Given the description of an element on the screen output the (x, y) to click on. 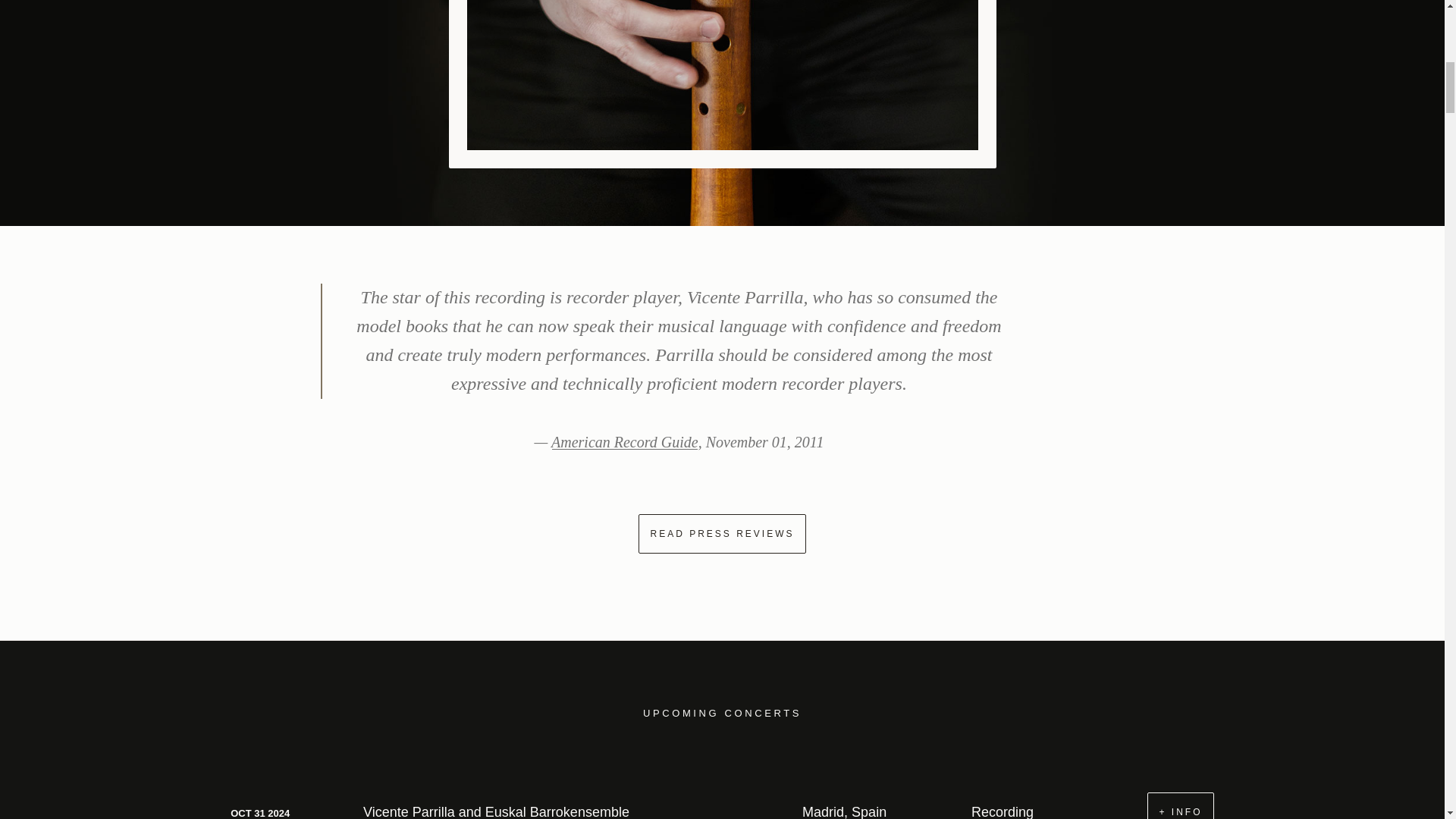
American Record Guide (624, 442)
oct 31 2024 (259, 811)
Recording (1002, 811)
Vicente Parrilla and Euskal Barrokensemble (495, 811)
READ PRESS REVIEWS (722, 533)
Madrid, Spain (844, 811)
